Given the description of an element on the screen output the (x, y) to click on. 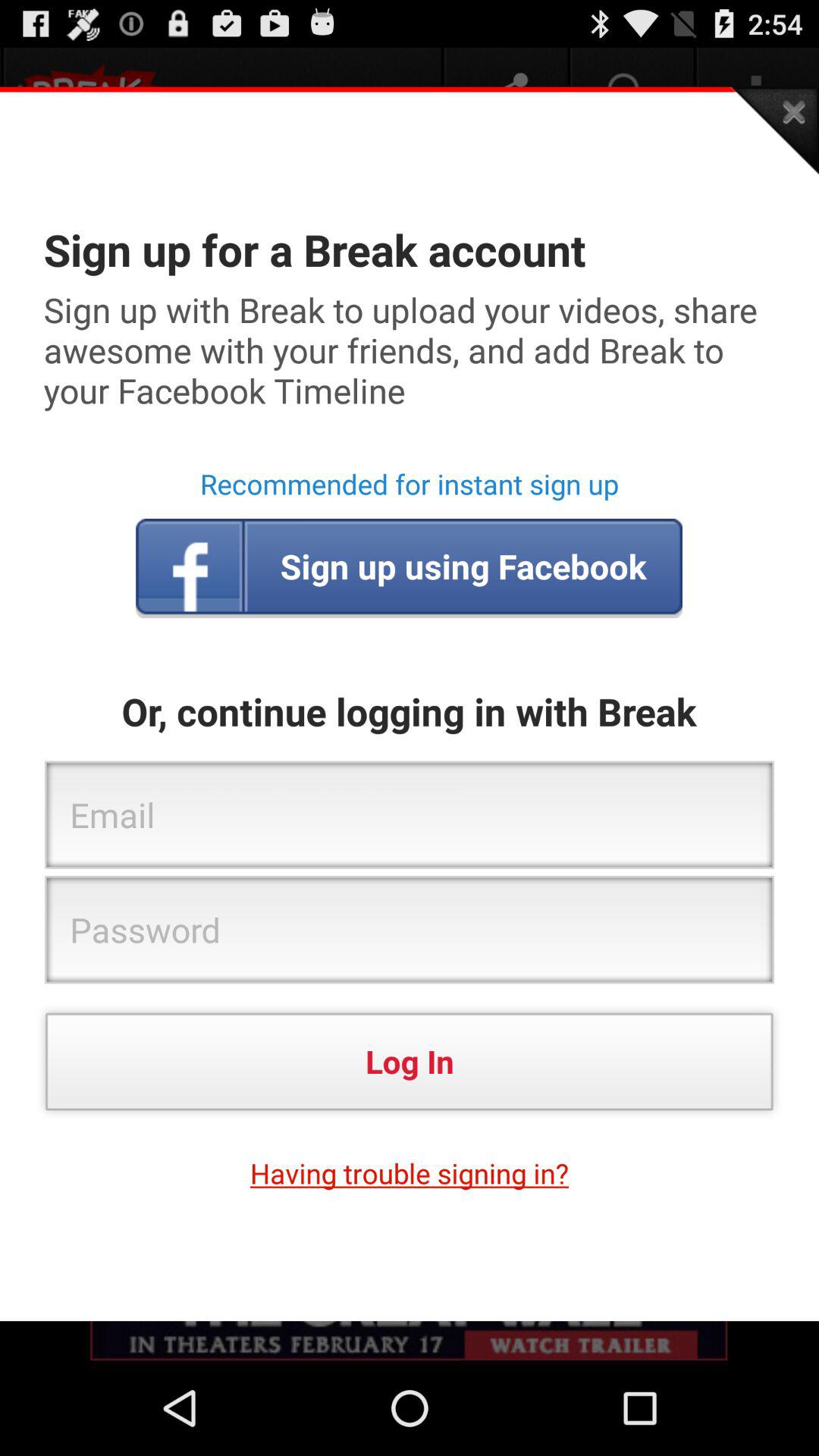
flip until having trouble signing item (409, 1172)
